Given the description of an element on the screen output the (x, y) to click on. 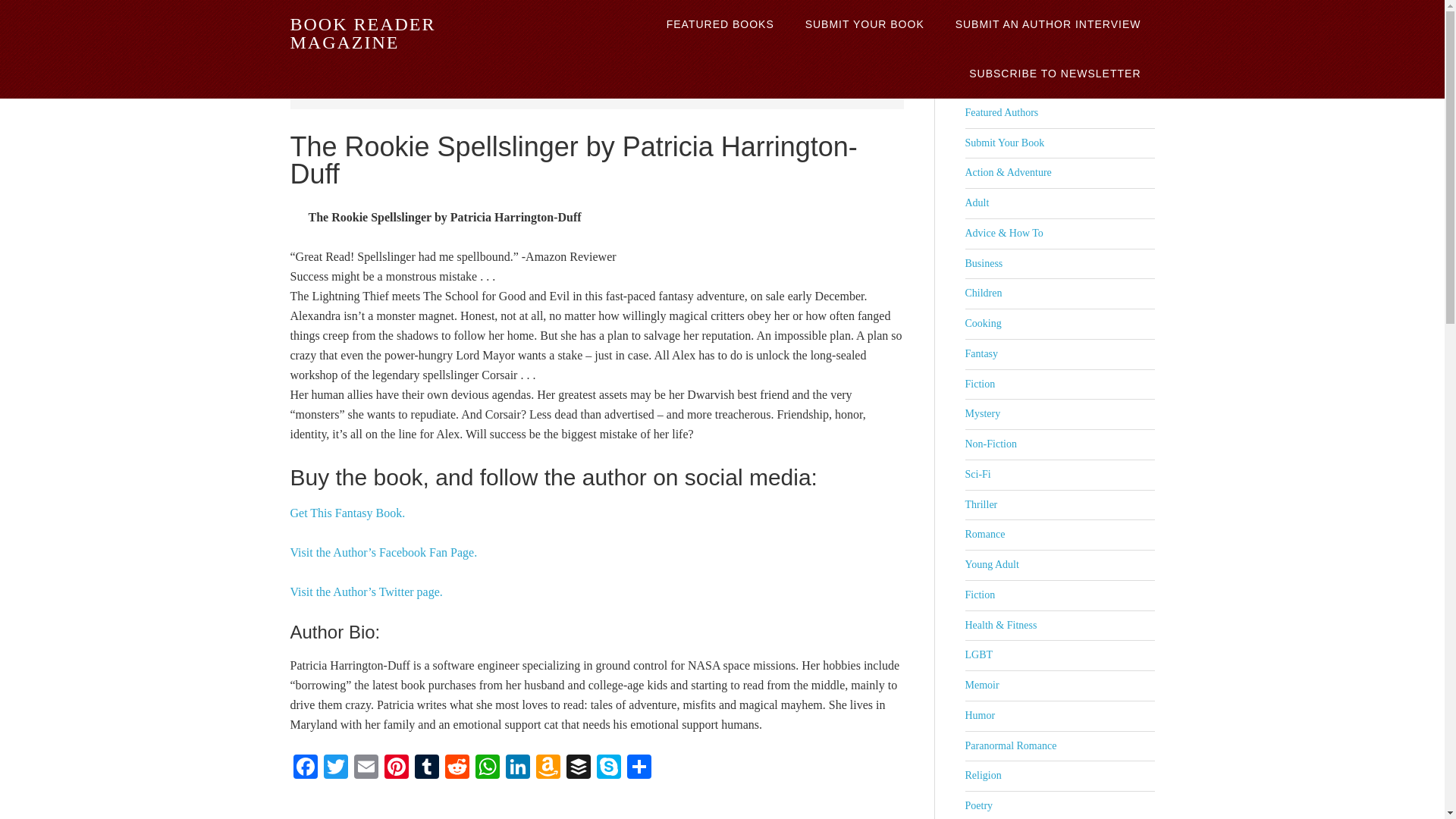
Skype (607, 768)
SUBMIT AN AUTHOR INTERVIEW (1048, 24)
Cooking (982, 323)
SUBMIT YOUR BOOK (864, 24)
Romance (983, 533)
SUBSCRIBE TO NEWSLETTER (1054, 73)
Submit Your Book (1003, 142)
Twitter (335, 768)
Reddit (456, 768)
LinkedIn (517, 768)
